Given the description of an element on the screen output the (x, y) to click on. 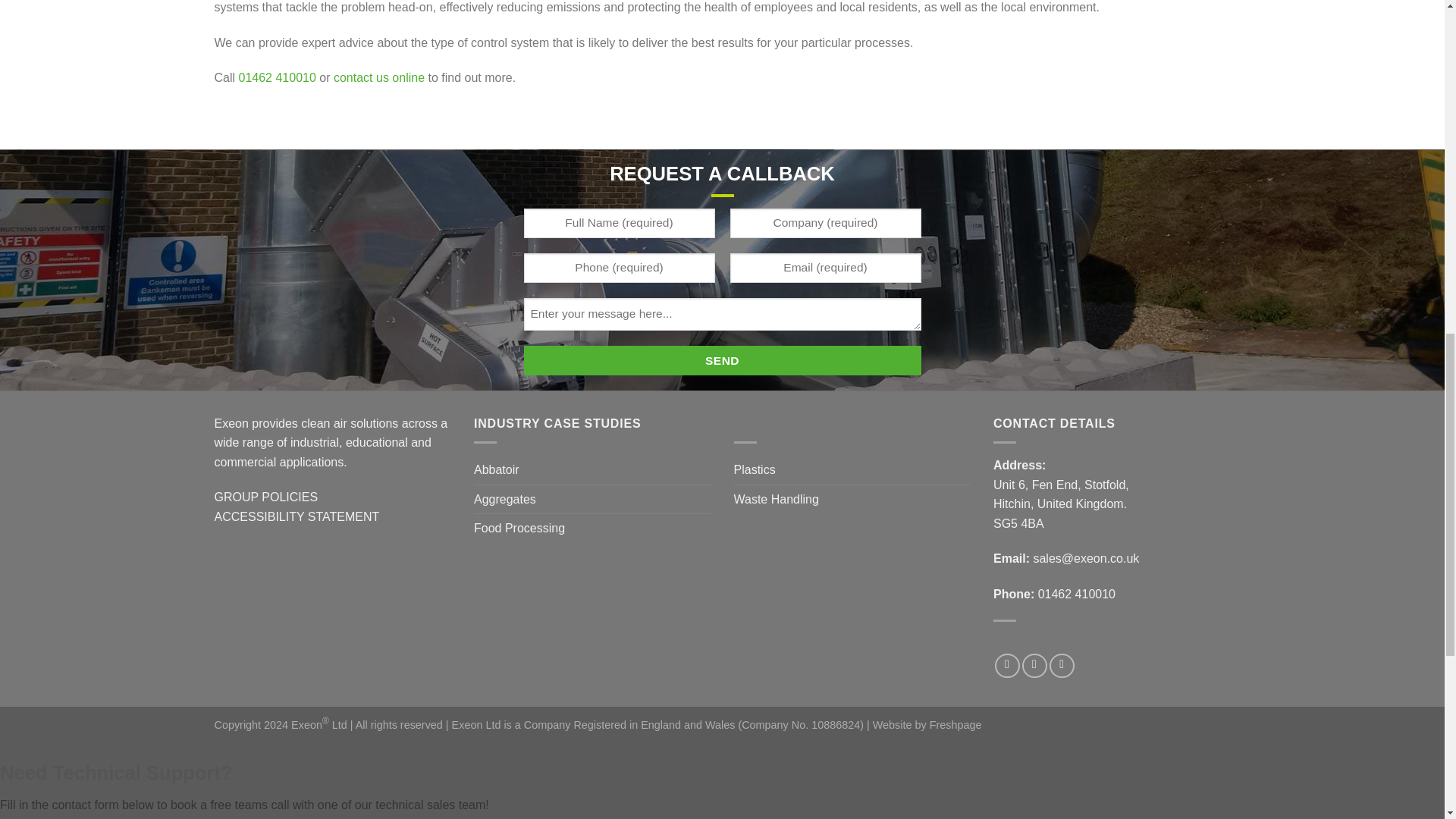
Send (721, 360)
Follow on LinkedIn (1061, 665)
Follow on Twitter (1034, 665)
Follow on Facebook (1007, 665)
